Given the description of an element on the screen output the (x, y) to click on. 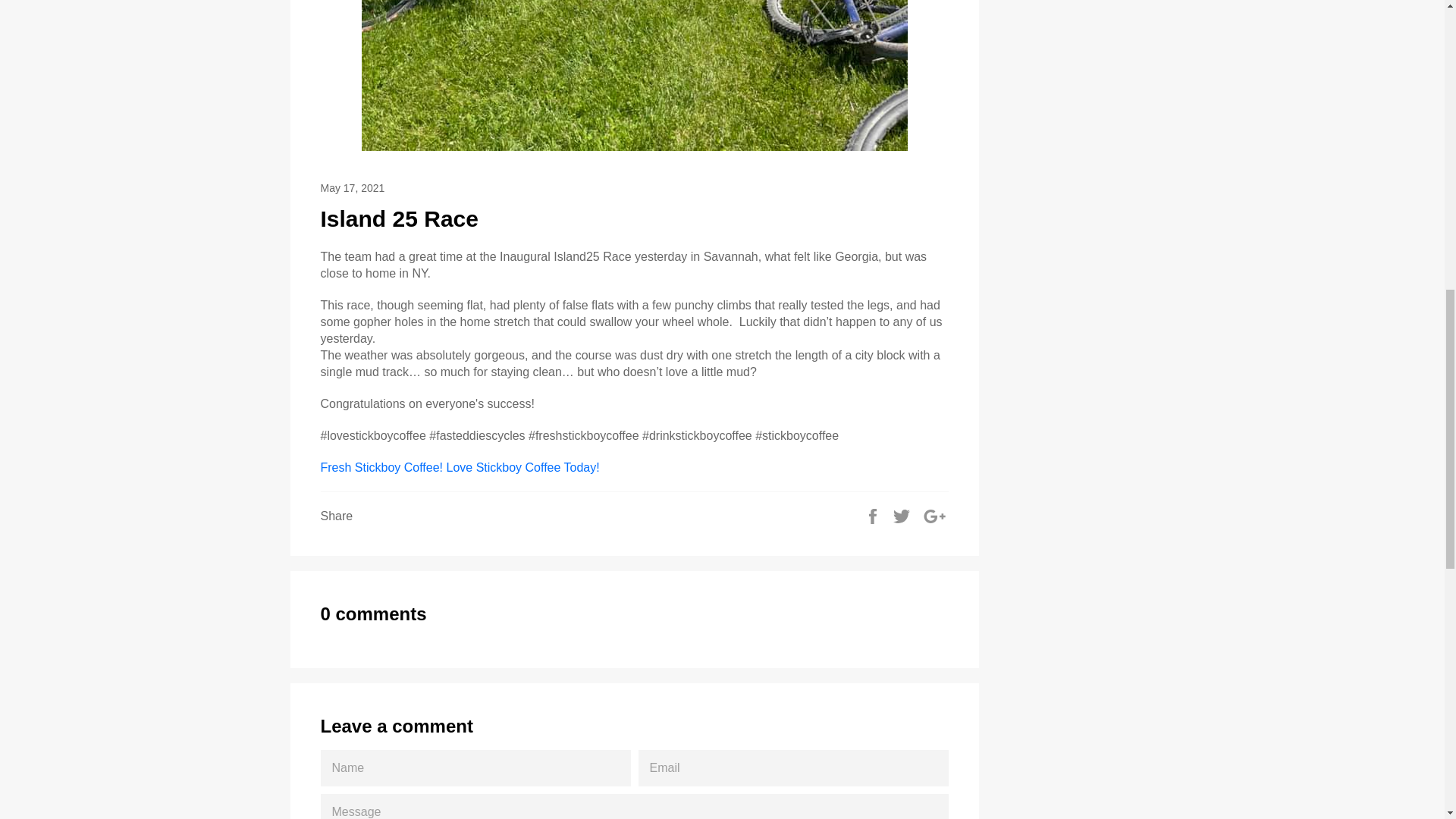
Fresh Stickboy Coffee! Love Stickboy Coffee Today!  (461, 467)
Tweet (903, 514)
Share (874, 514)
